Given the description of an element on the screen output the (x, y) to click on. 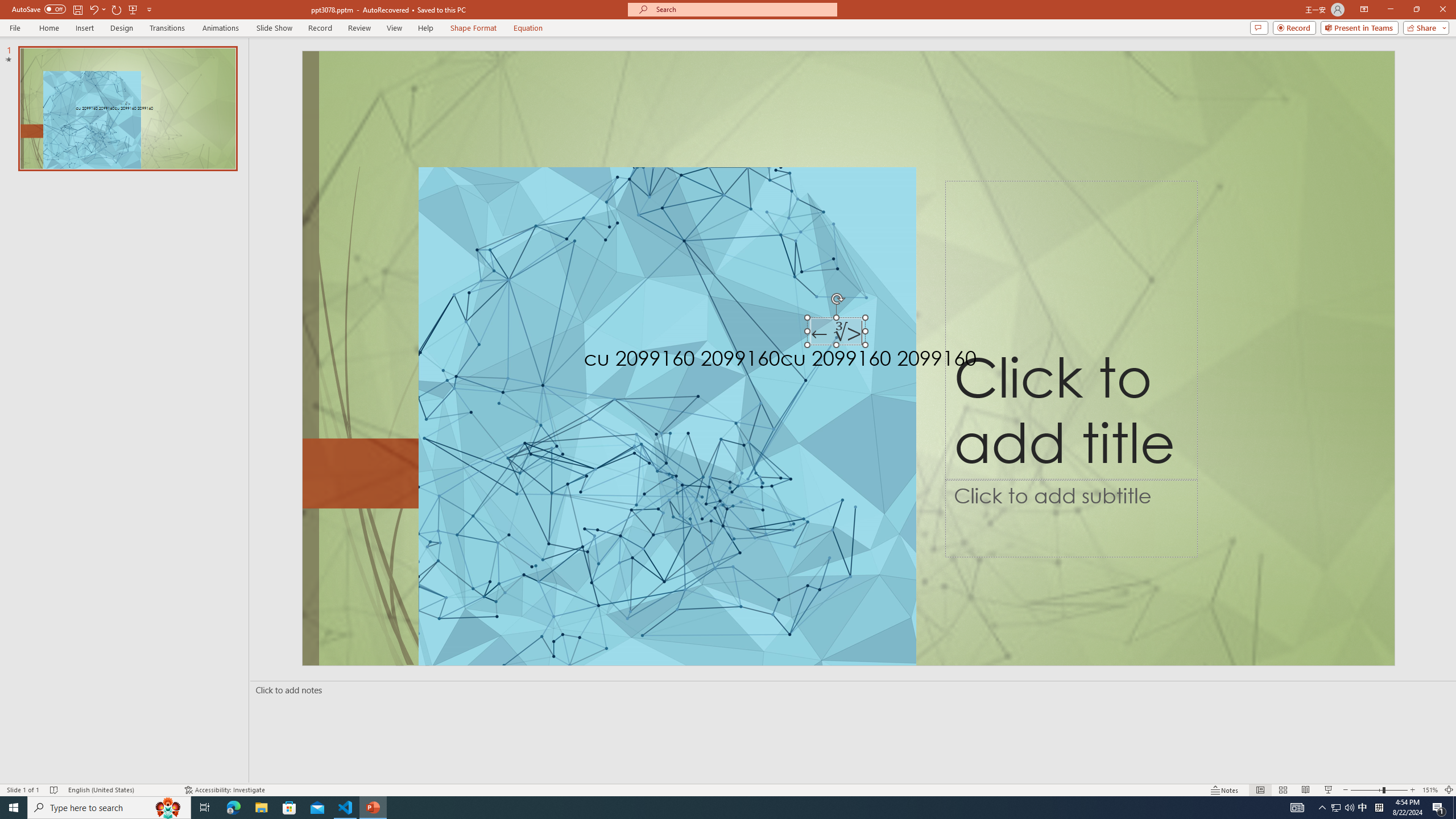
Zoom 151% (1430, 790)
